Given the description of an element on the screen output the (x, y) to click on. 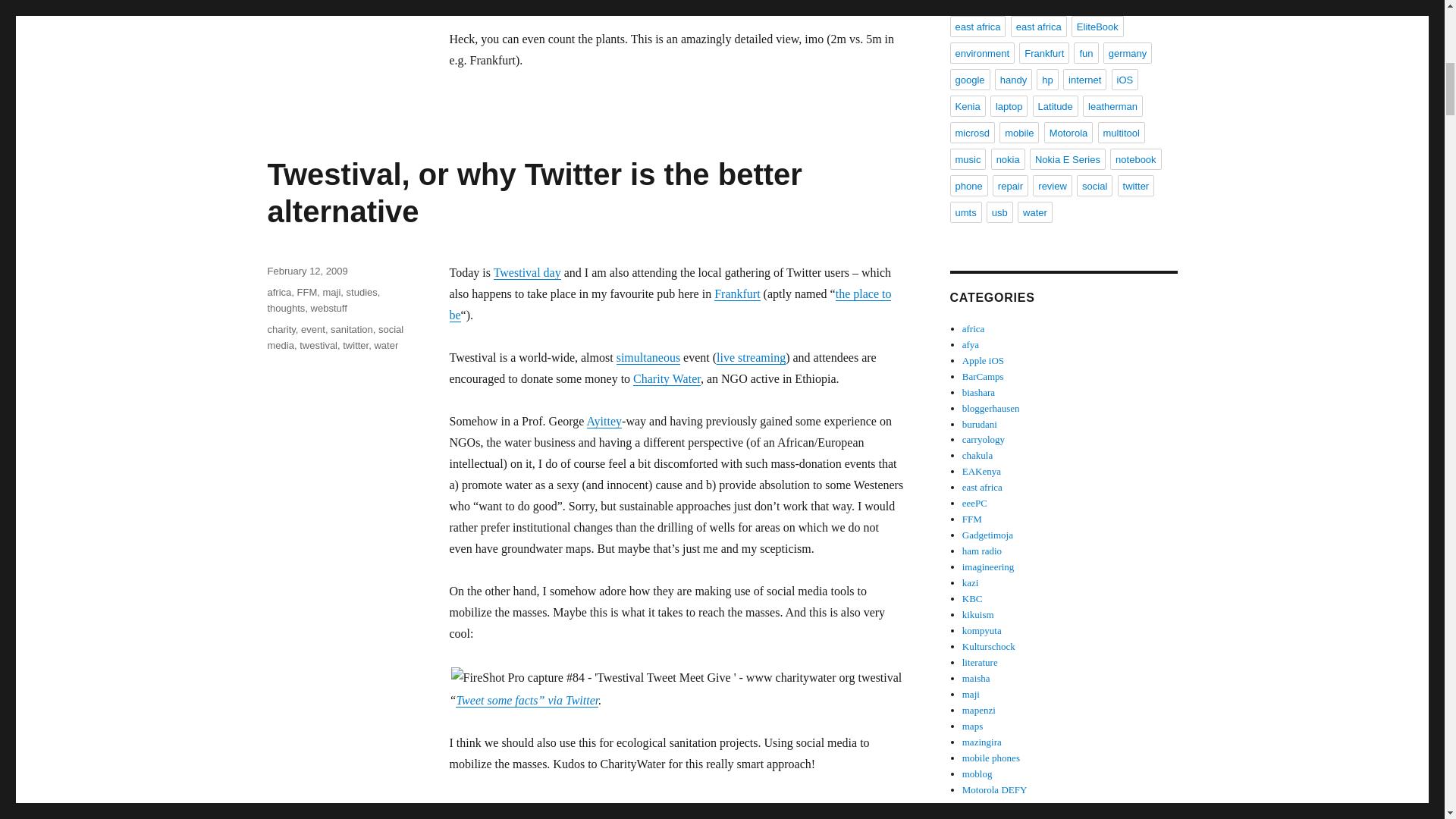
February 12, 2009 (306, 270)
studies (361, 292)
sanitation (351, 328)
social media (334, 337)
Twestival, or why Twitter is the better alternative (534, 193)
charity (280, 328)
thoughts (285, 307)
maji (330, 292)
event (312, 328)
Twestival day (526, 272)
